Given the description of an element on the screen output the (x, y) to click on. 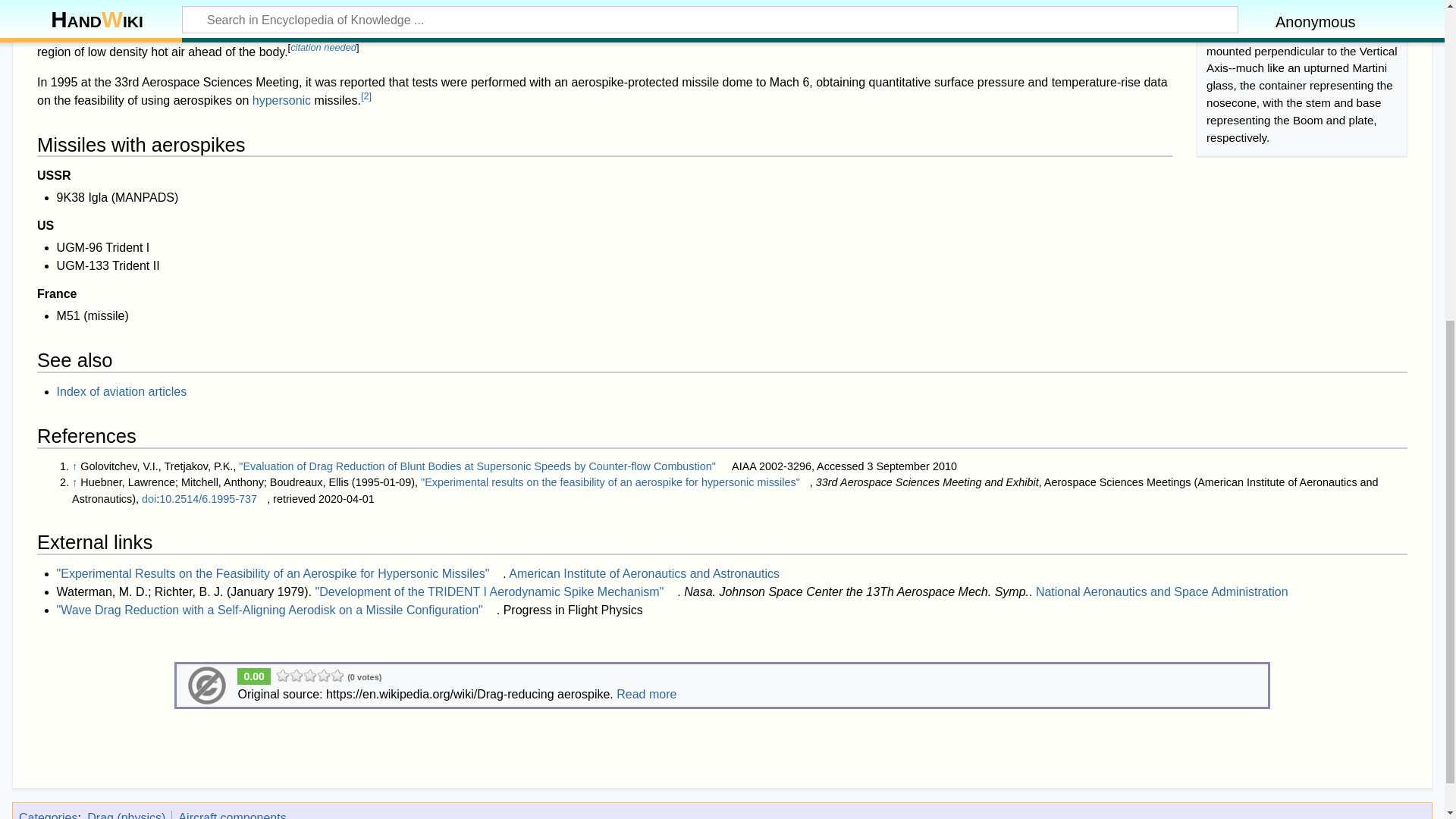
hypersonic (281, 100)
citation needed (322, 47)
wikipedia:Citation needed (322, 47)
American Institute of Aeronautics and Astronautics (643, 573)
Index of aviation articles (121, 391)
doi (148, 499)
